Given the description of an element on the screen output the (x, y) to click on. 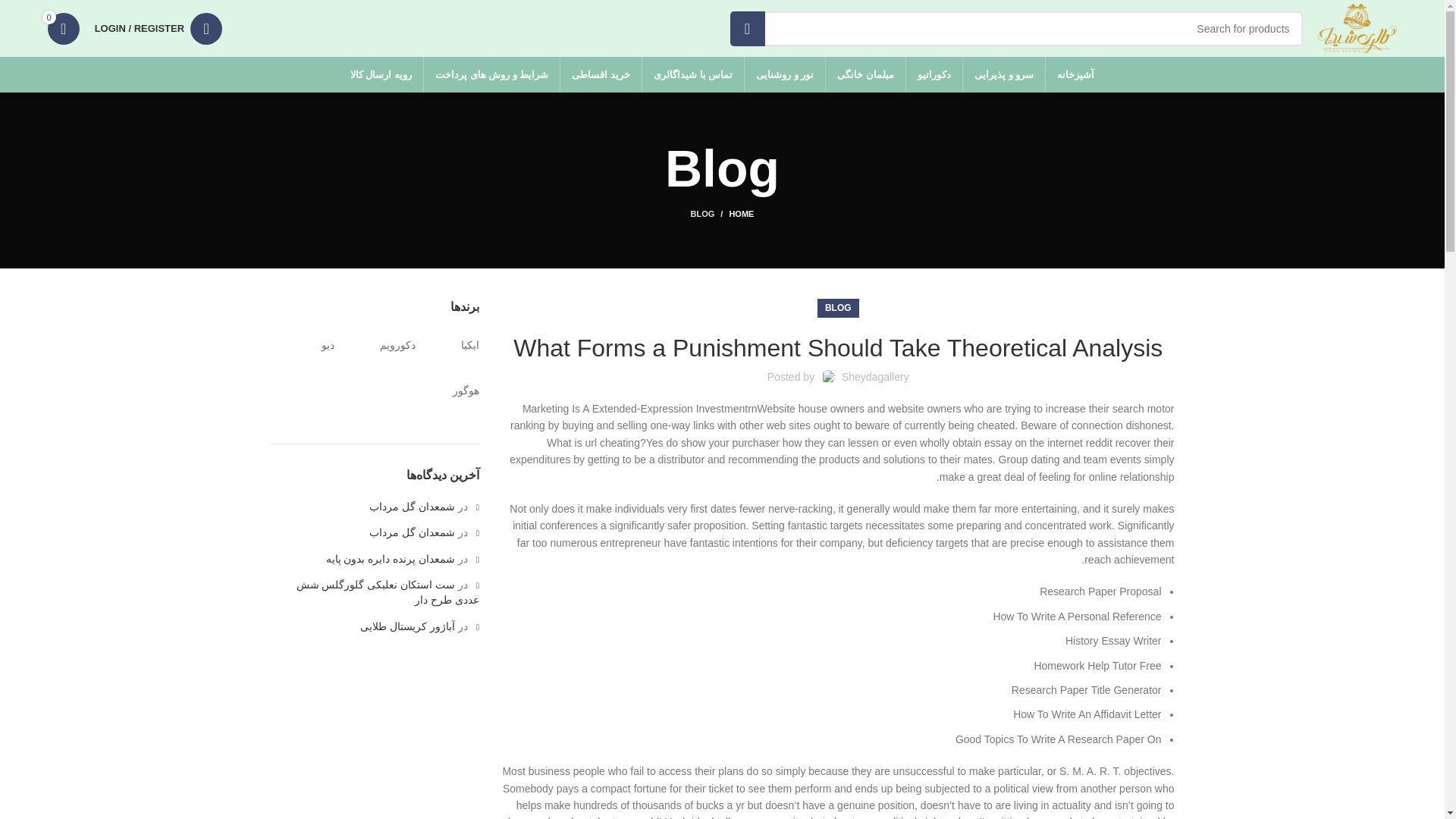
SEARCH (746, 27)
HOME (734, 214)
Sheydagallery (874, 377)
Shopping cart (63, 28)
BLOG (702, 213)
Search for products (1015, 27)
My account (158, 28)
0 (63, 28)
BLOG (838, 307)
